Given the description of an element on the screen output the (x, y) to click on. 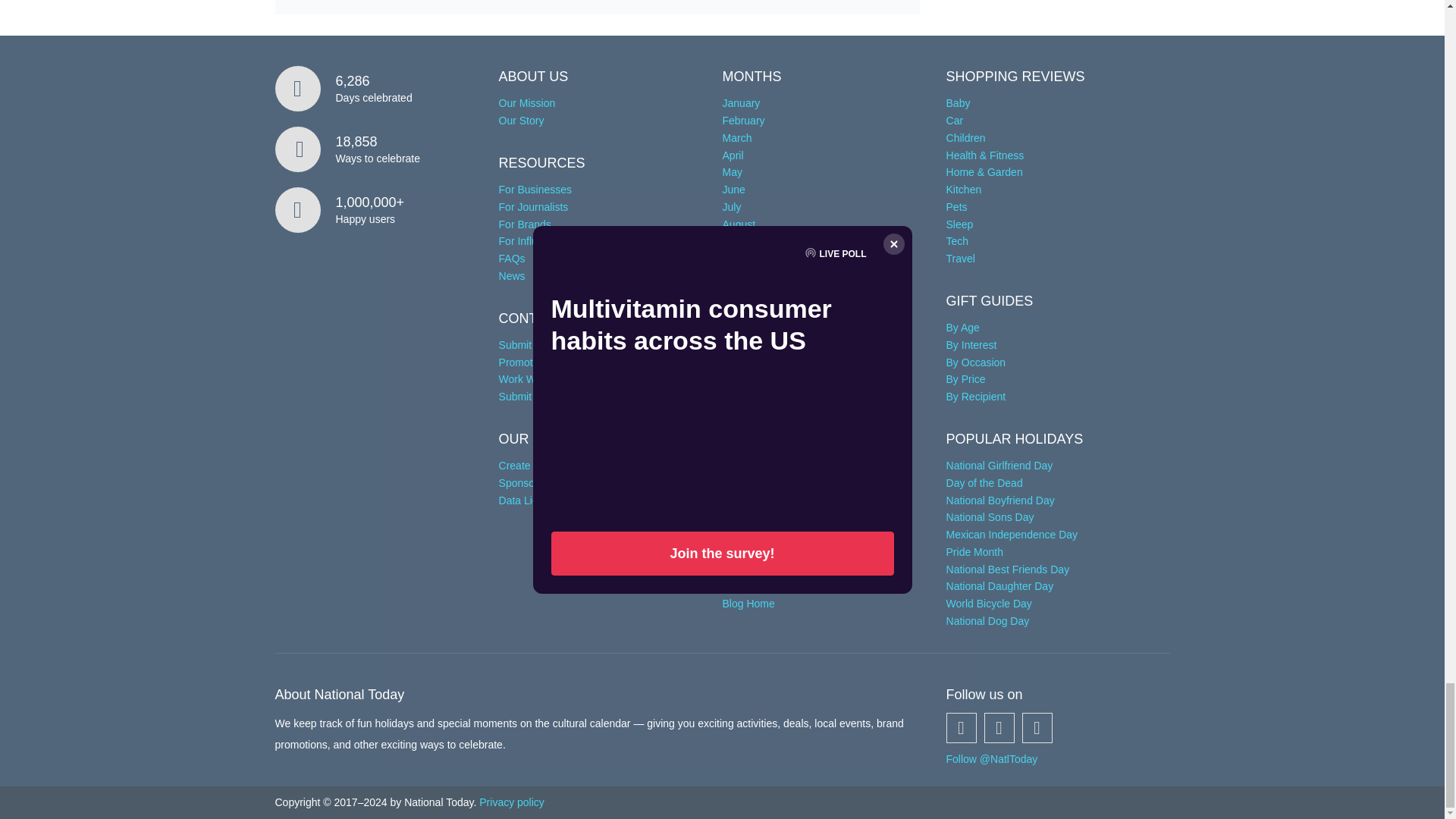
Follow us on Facebook (961, 727)
Follow us on Instagram (1037, 727)
Follow us on Twitter (999, 727)
